Given the description of an element on the screen output the (x, y) to click on. 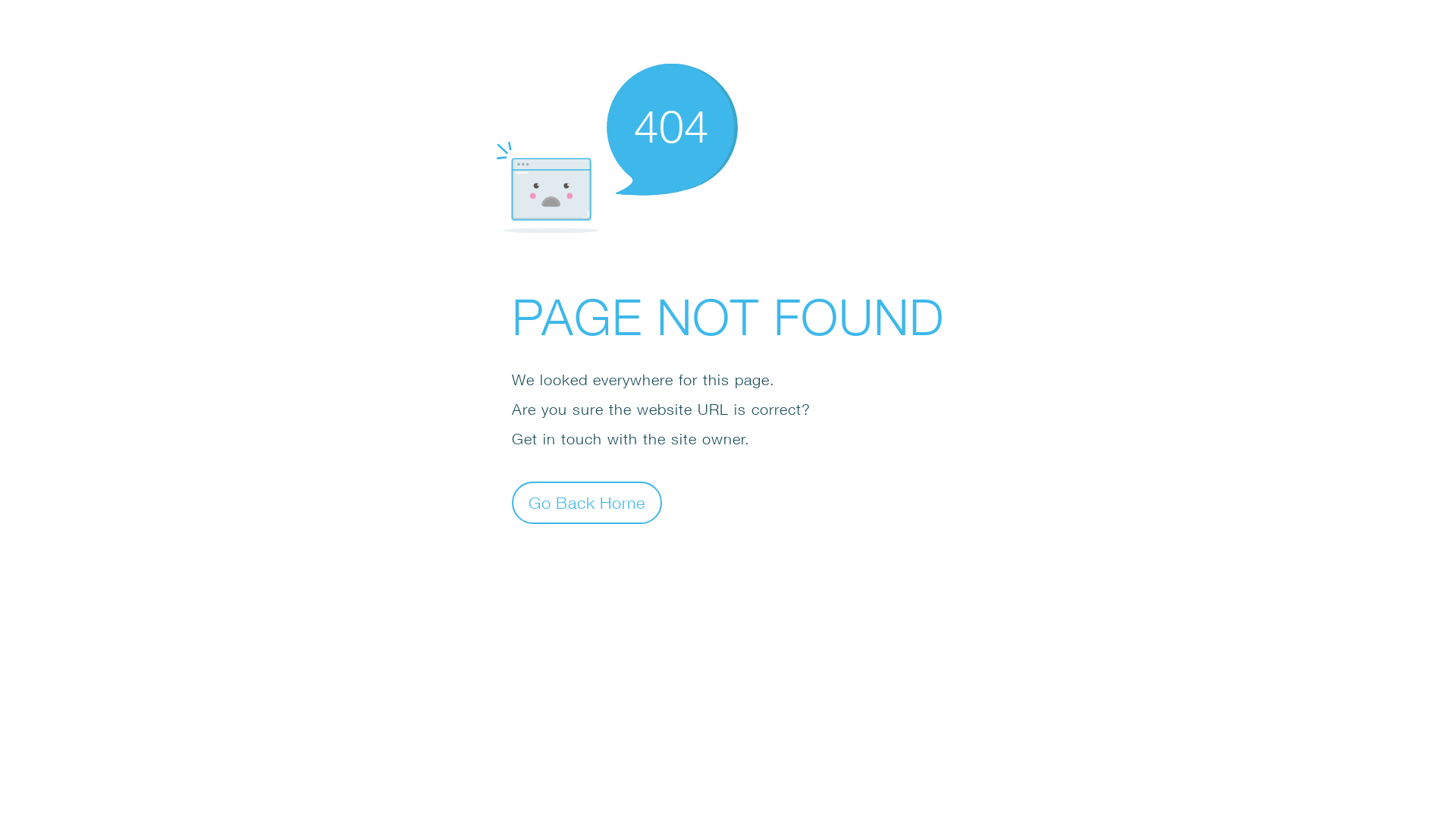
Go Back Home Element type: text (586, 502)
